Given the description of an element on the screen output the (x, y) to click on. 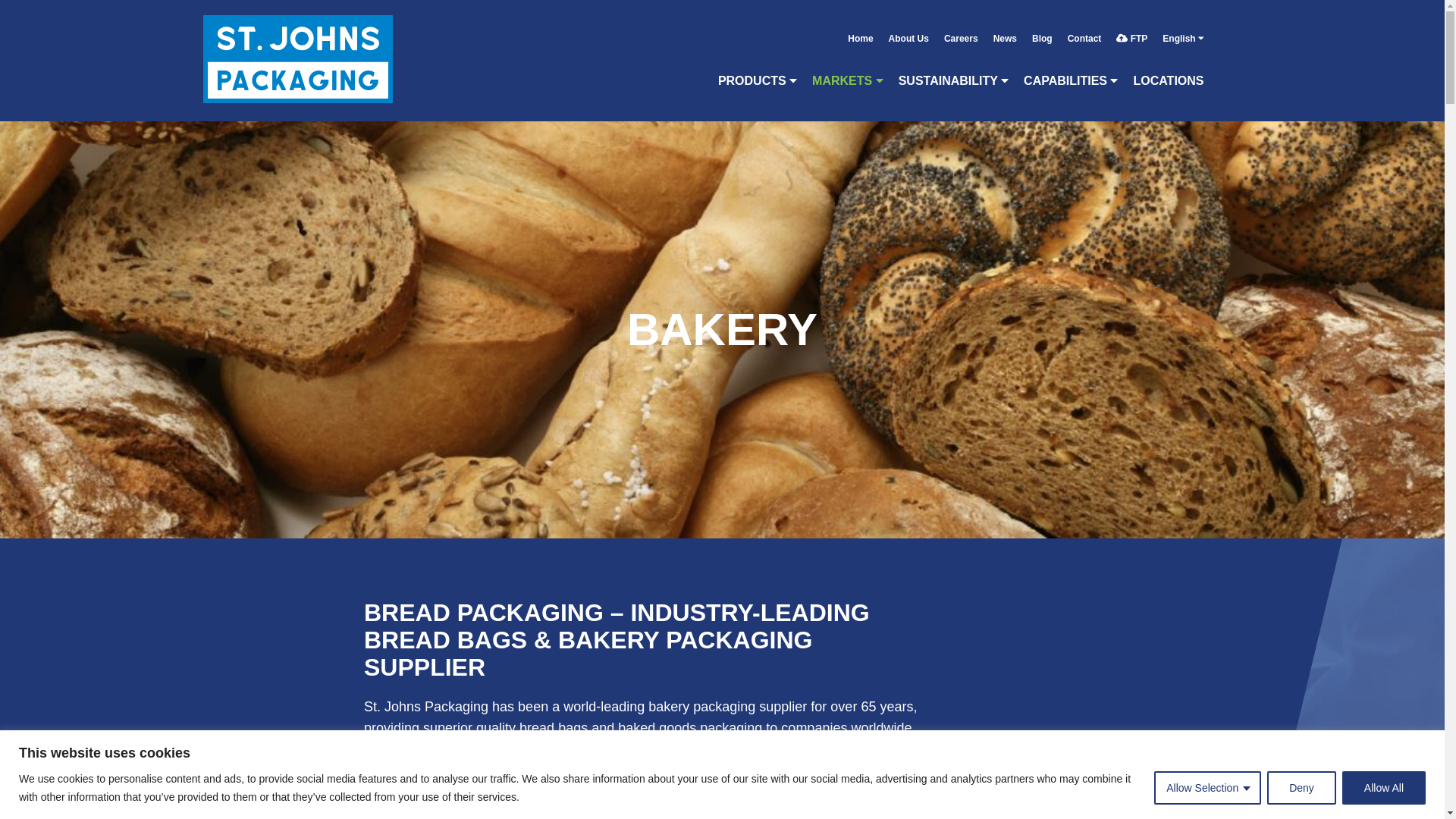
FTP (1131, 45)
PRODUCTS (757, 72)
About Us (908, 45)
Careers (960, 45)
Allow All (1383, 786)
Contact (1084, 45)
News (1005, 45)
CAPABILITIES (1070, 72)
Production Locations (1168, 72)
SUSTAINABILITY (953, 72)
Blog (1042, 45)
News (1005, 45)
Allow Selection (1207, 786)
English (1182, 45)
Blog (1042, 45)
